Given the description of an element on the screen output the (x, y) to click on. 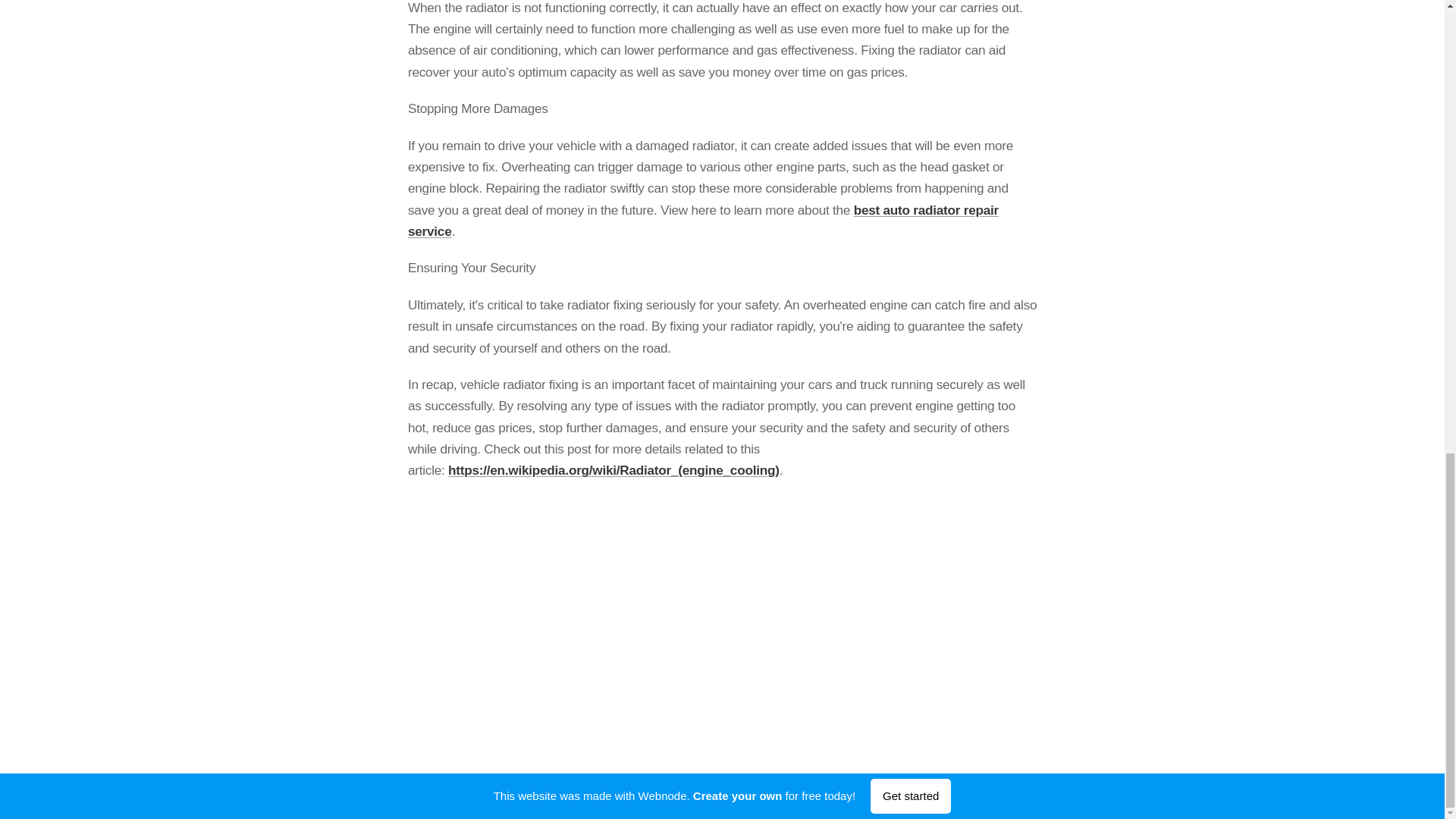
best auto radiator repair service (702, 220)
